Given the description of an element on the screen output the (x, y) to click on. 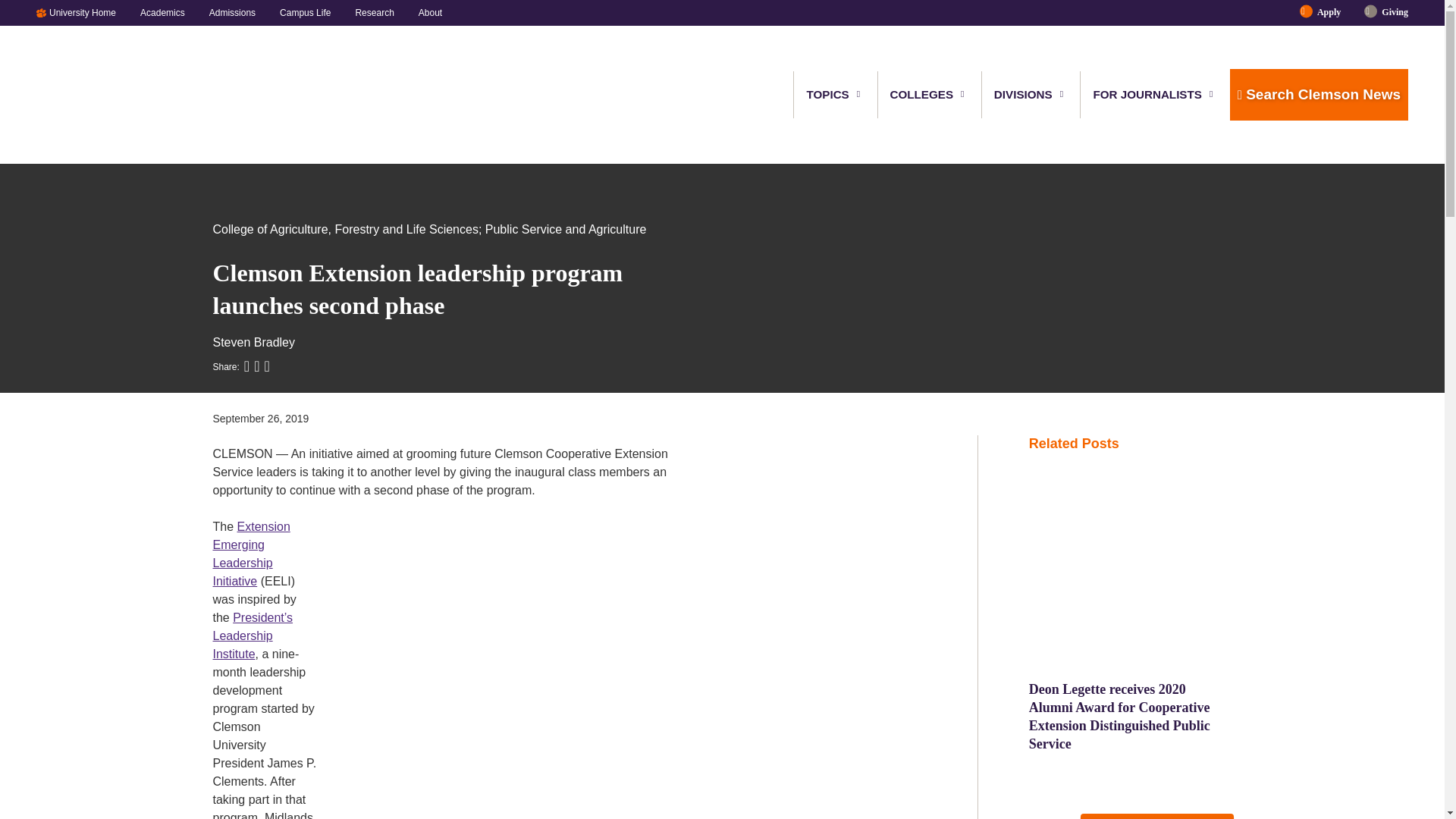
Admissions (231, 12)
TOPICS (828, 94)
University Home (88, 12)
Posts by Steven Bradley (253, 341)
Clemson News (114, 94)
Apply (1328, 11)
COLLEGES (922, 94)
Campus Life (304, 12)
Giving (1388, 11)
Research (374, 12)
